Given the description of an element on the screen output the (x, y) to click on. 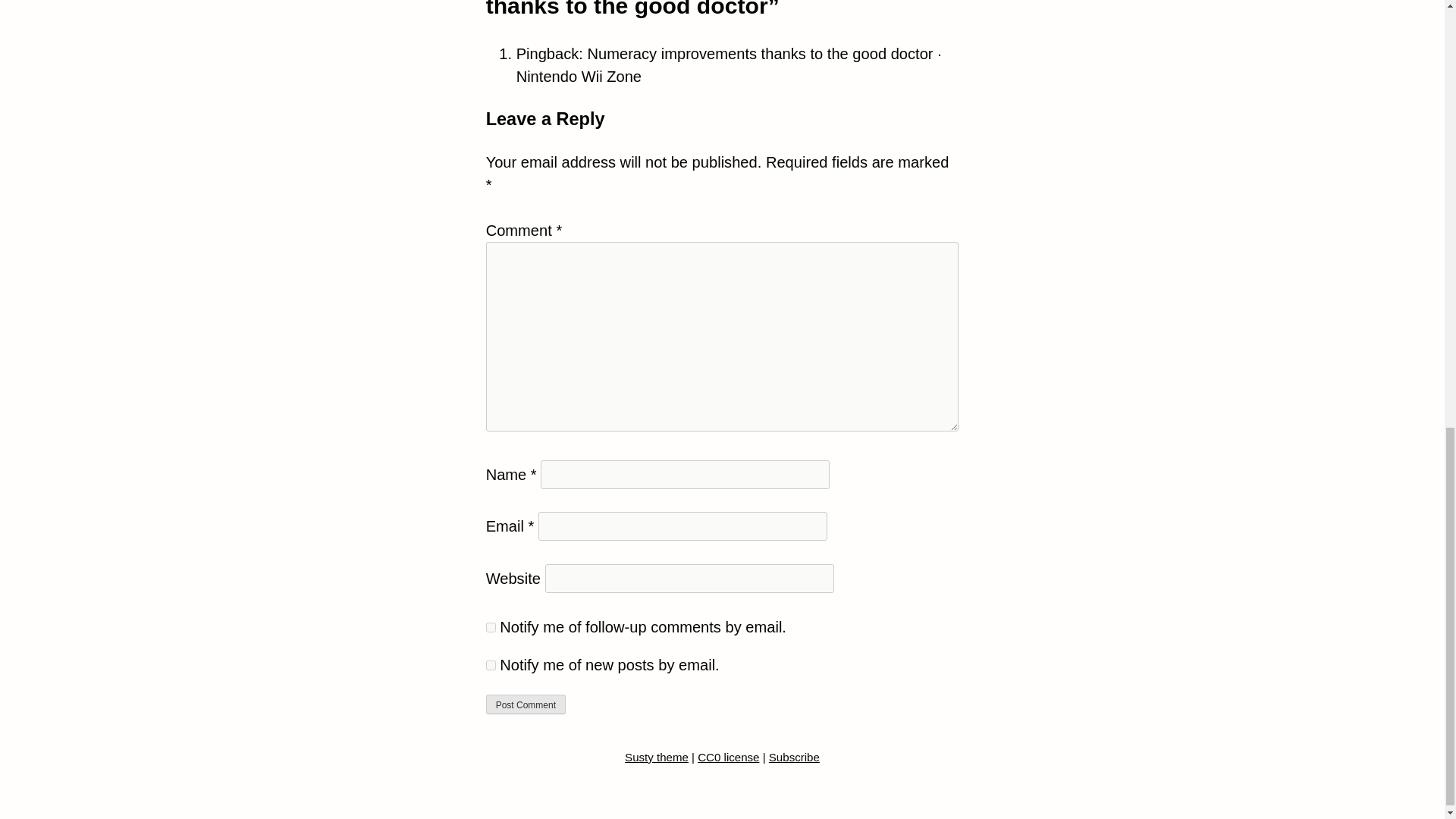
CC0 license (727, 758)
Post Comment (526, 704)
Subscribe (793, 758)
Susty theme (656, 758)
subscribe (491, 627)
Post Comment (526, 704)
subscribe (491, 665)
